Given the description of an element on the screen output the (x, y) to click on. 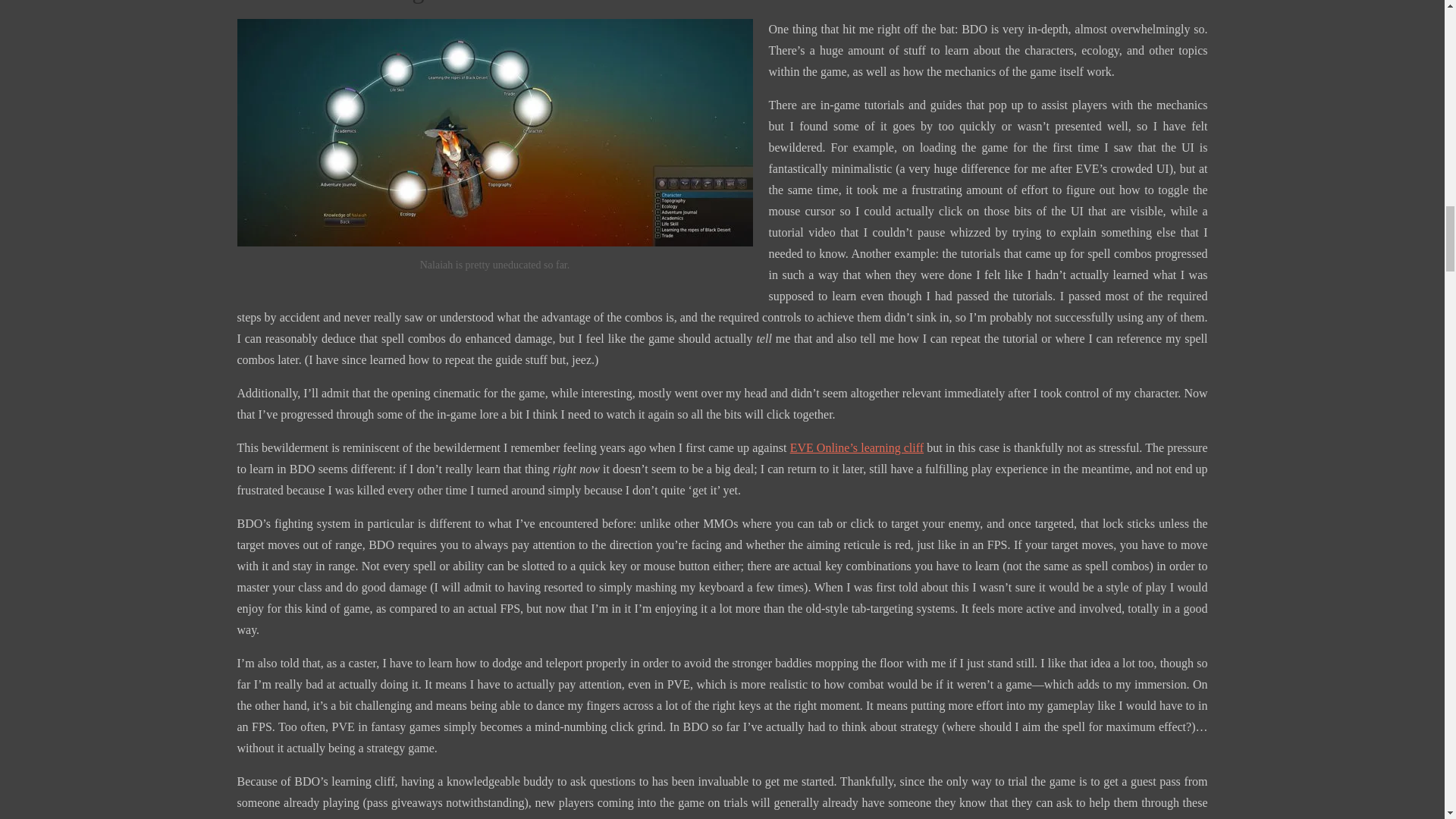
Black Desert Tome (593, 818)
Black Desert Database (701, 818)
